Given the description of an element on the screen output the (x, y) to click on. 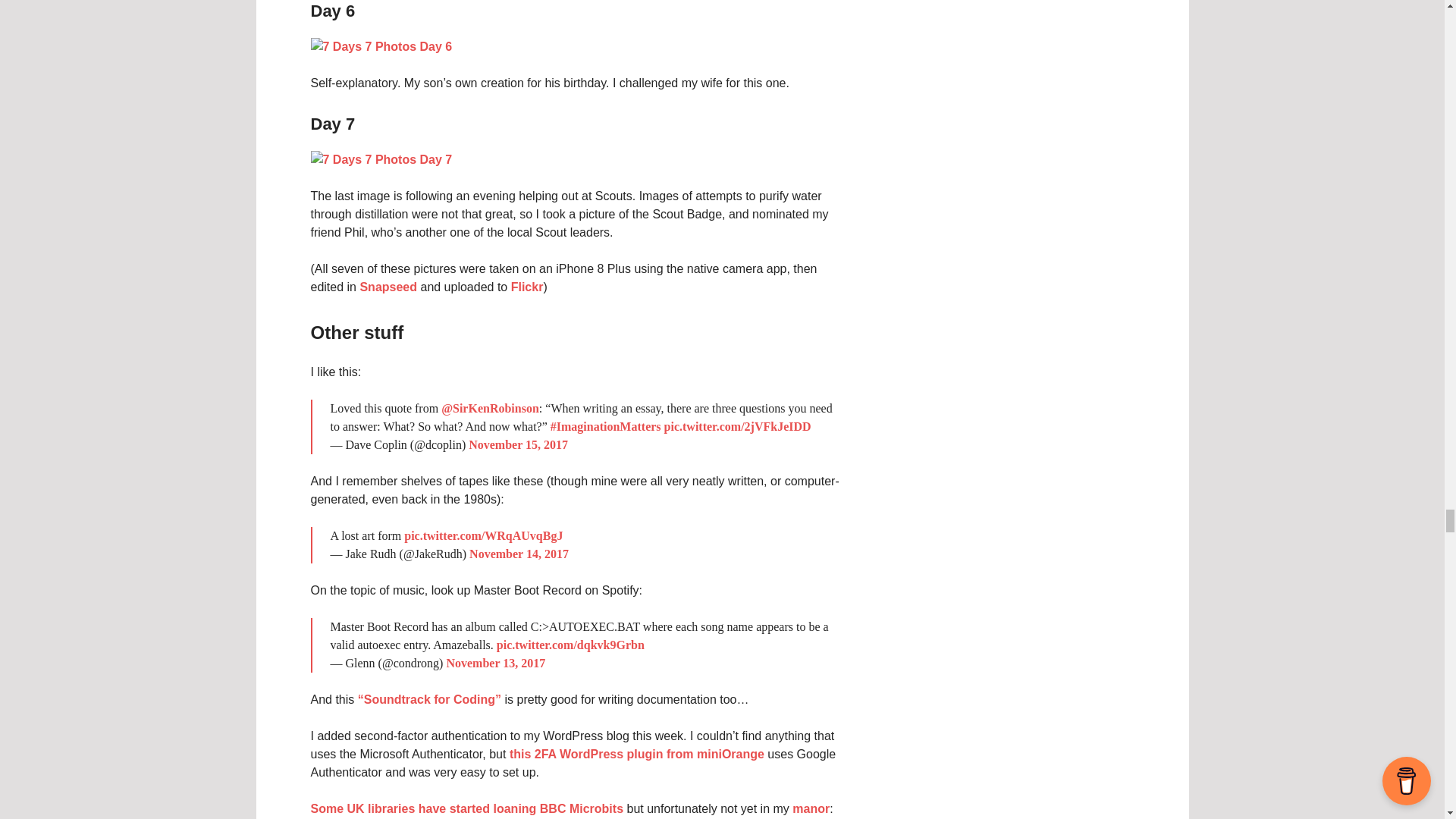
7 Days 7 Photos Day 6 (381, 46)
7 Days 7 Photos Day 7 (381, 159)
